Given the description of an element on the screen output the (x, y) to click on. 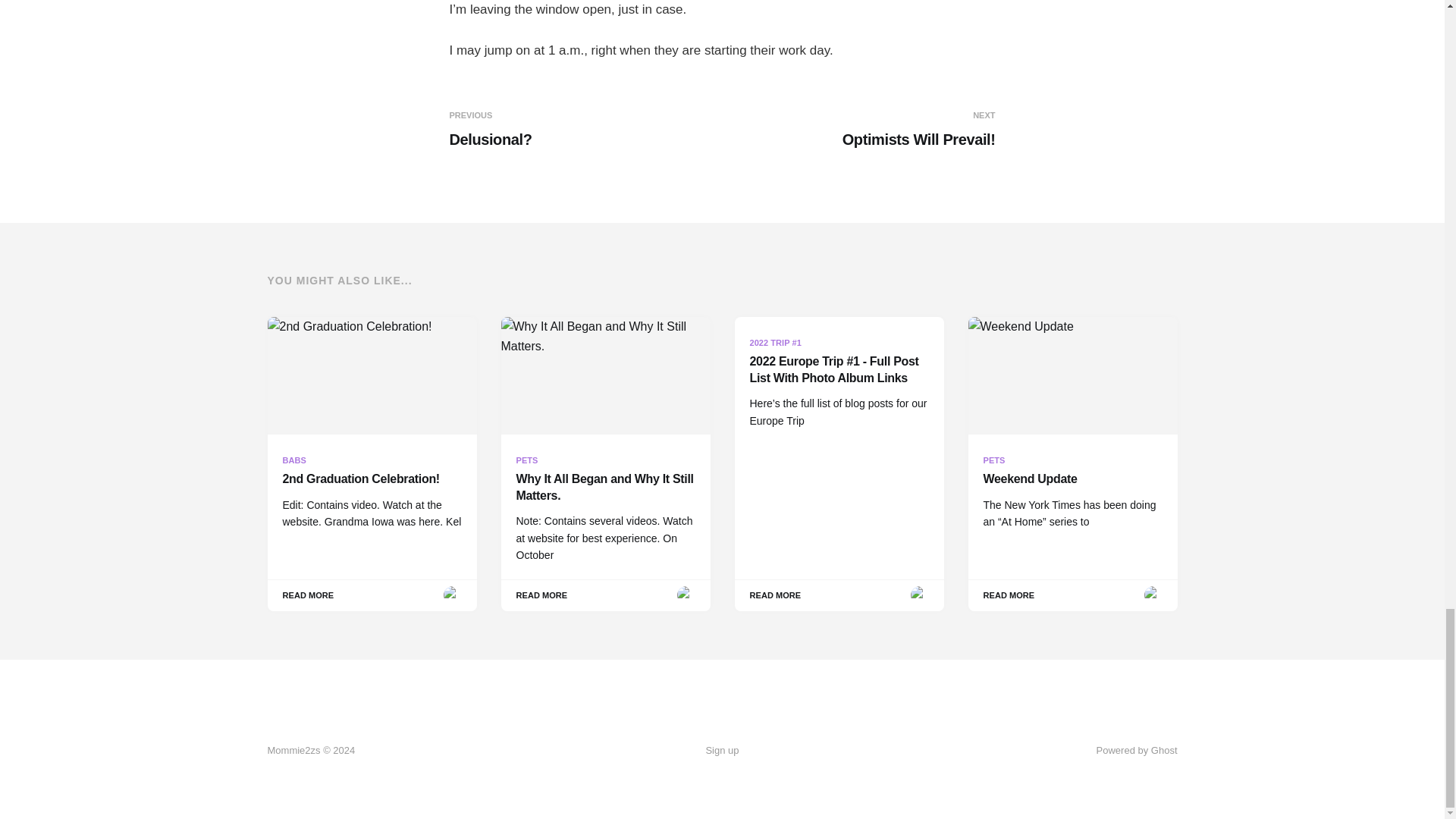
Sign up (721, 750)
Powered by Ghost (582, 128)
